Given the description of an element on the screen output the (x, y) to click on. 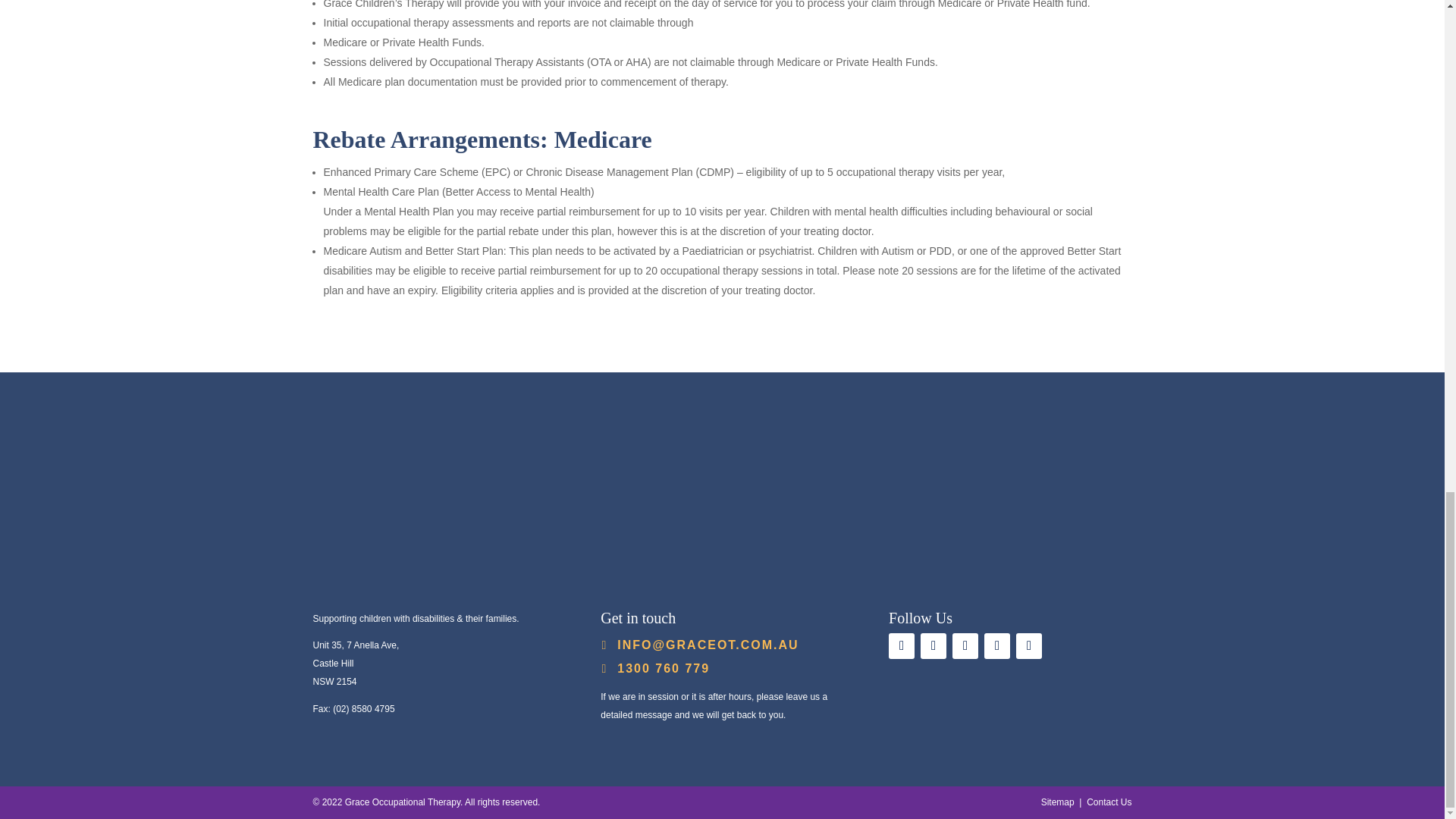
Follow on LinkedIn (901, 646)
Follow on TikTok (1029, 646)
Follow on Instagram (965, 646)
Follow on Facebook (933, 646)
Follow on X (997, 646)
